Given the description of an element on the screen output the (x, y) to click on. 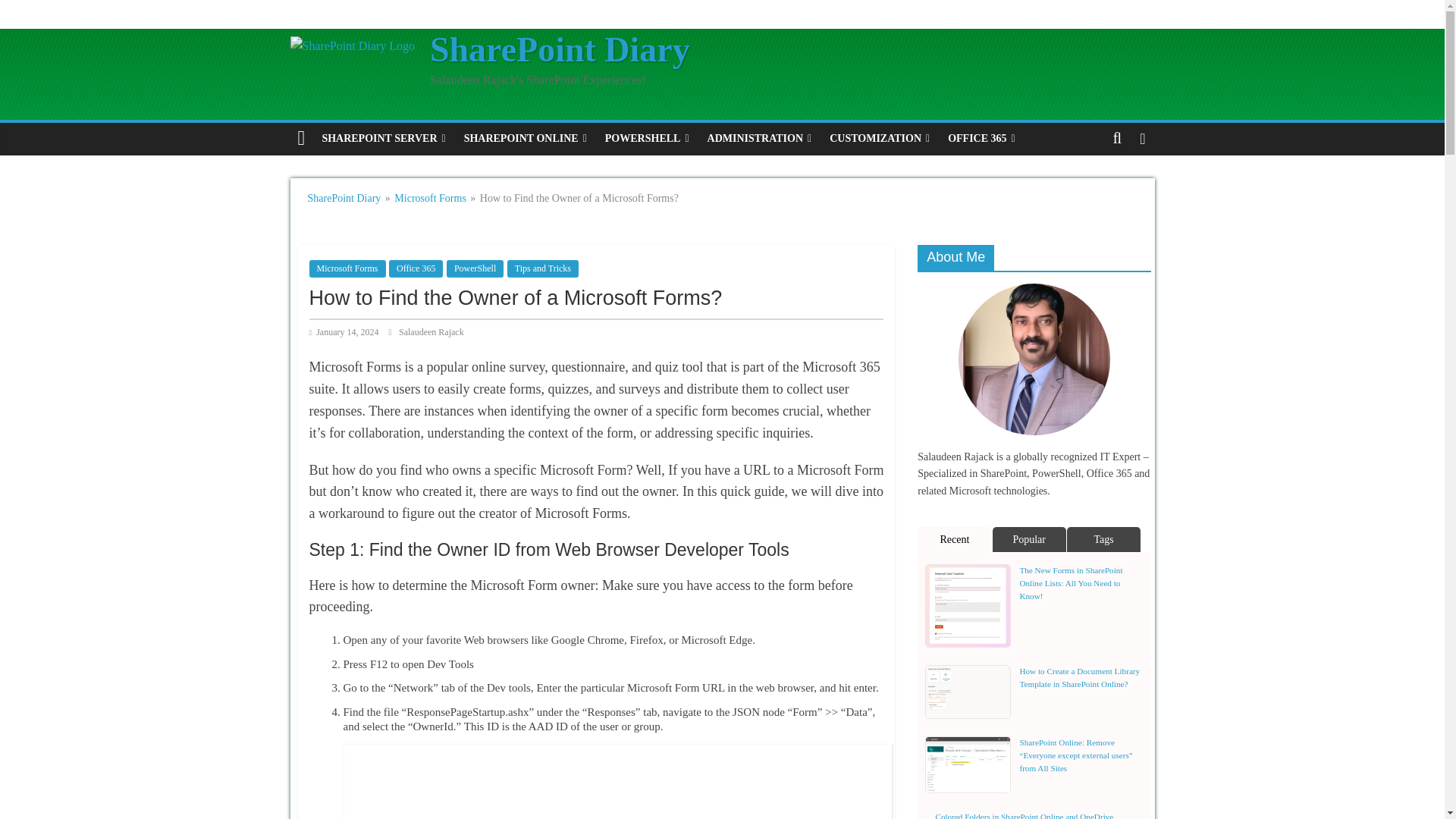
SharePoint Diary (559, 49)
SHAREPOINT SERVER (383, 138)
OFFICE 365 (982, 138)
PowerShell (474, 268)
Microsoft Forms (346, 268)
ADMINISTRATION (759, 138)
Office 365 (415, 268)
View a random post (1142, 138)
Salaudeen Rajack (431, 331)
SharePoint Diary (559, 49)
Tips and Tricks (542, 268)
January 14, 2024 (344, 331)
Microsoft Forms (429, 197)
SHAREPOINT ONLINE (524, 138)
Salaudeen Rajack (431, 331)
